Given the description of an element on the screen output the (x, y) to click on. 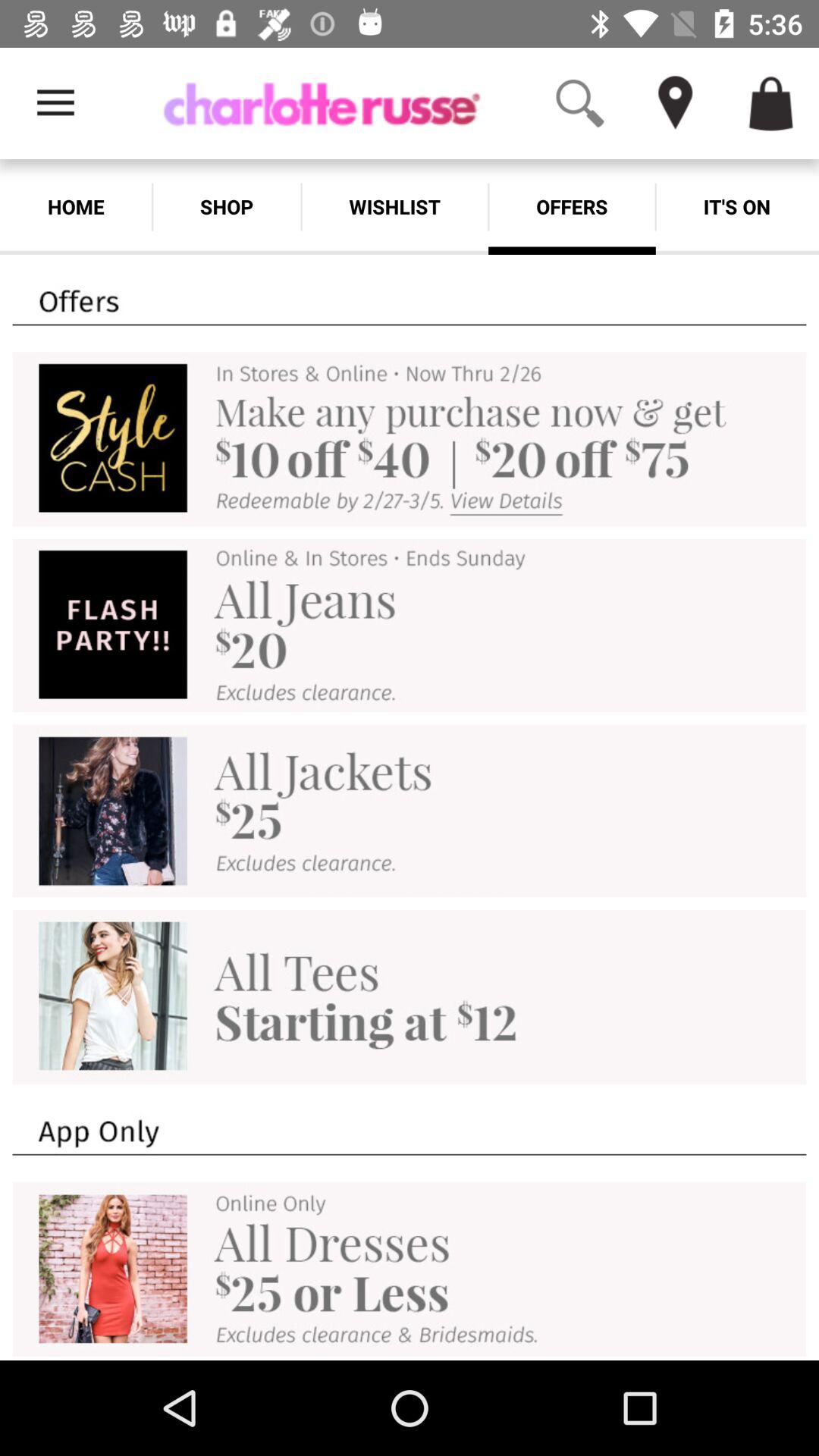
press the app to the right of the home item (226, 206)
